Given the description of an element on the screen output the (x, y) to click on. 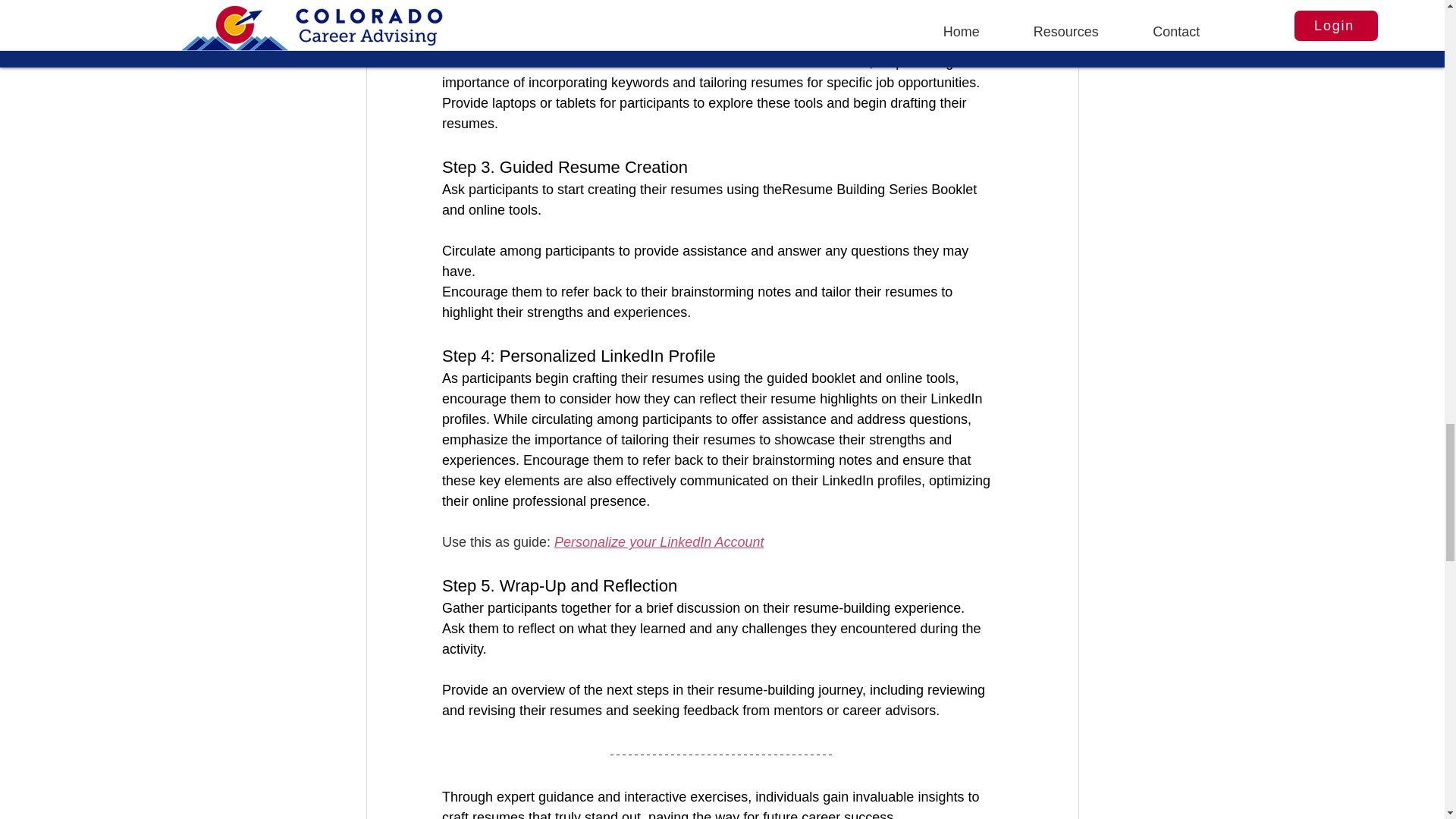
ResumeNerd.com (496, 20)
Lightcast (765, 4)
Personalize your LinkedIn Account (659, 541)
